Given the description of an element on the screen output the (x, y) to click on. 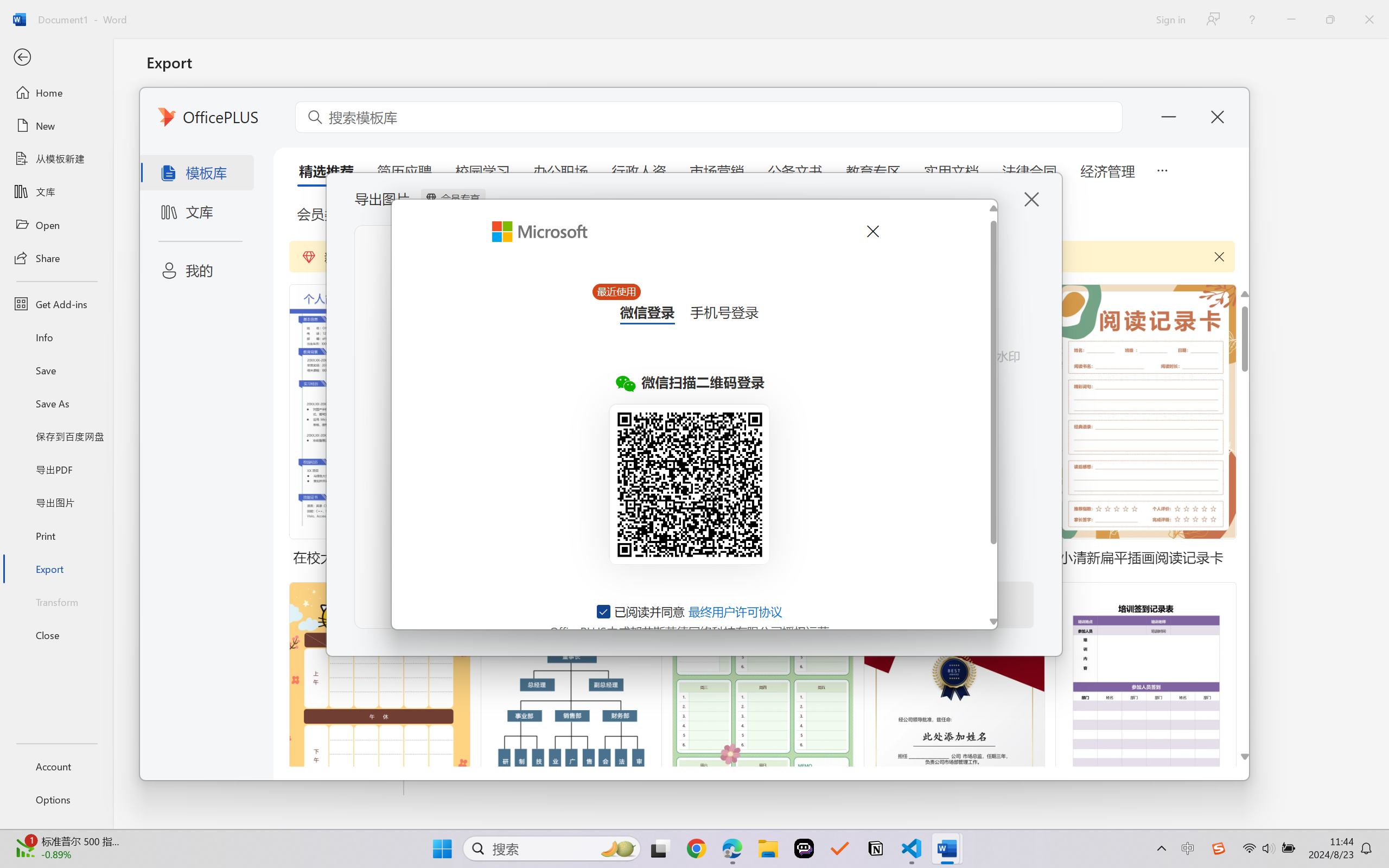
Print (56, 535)
Cancel (872, 230)
New (56, 125)
Create PDF/XPS Document (275, 110)
Options (56, 798)
